Given the description of an element on the screen output the (x, y) to click on. 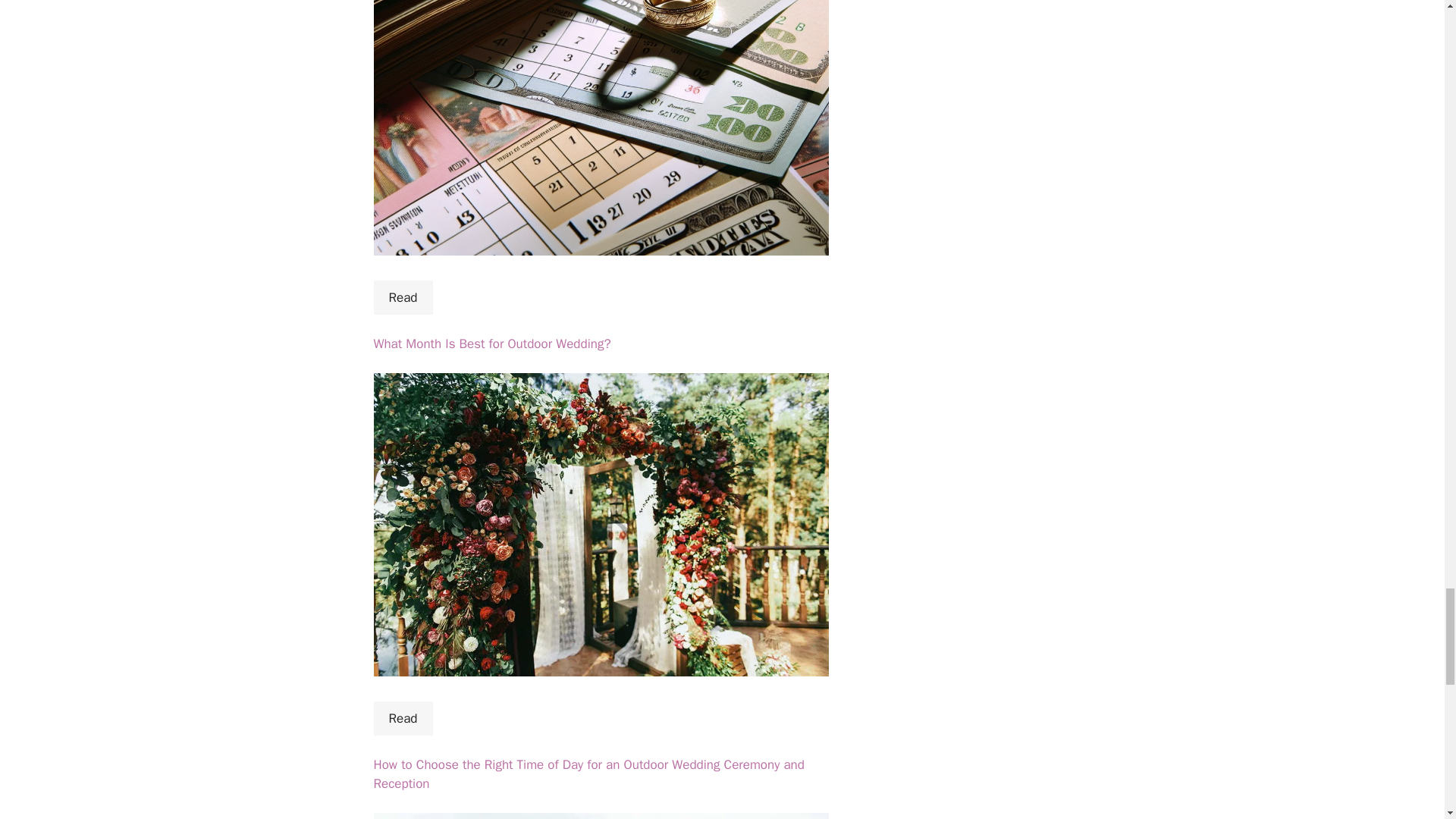
What Month Is Best for Outdoor Wedding? (491, 343)
Read (402, 718)
Read (402, 297)
What Month Is Best for Outdoor Wedding? (491, 343)
